Given the description of an element on the screen output the (x, y) to click on. 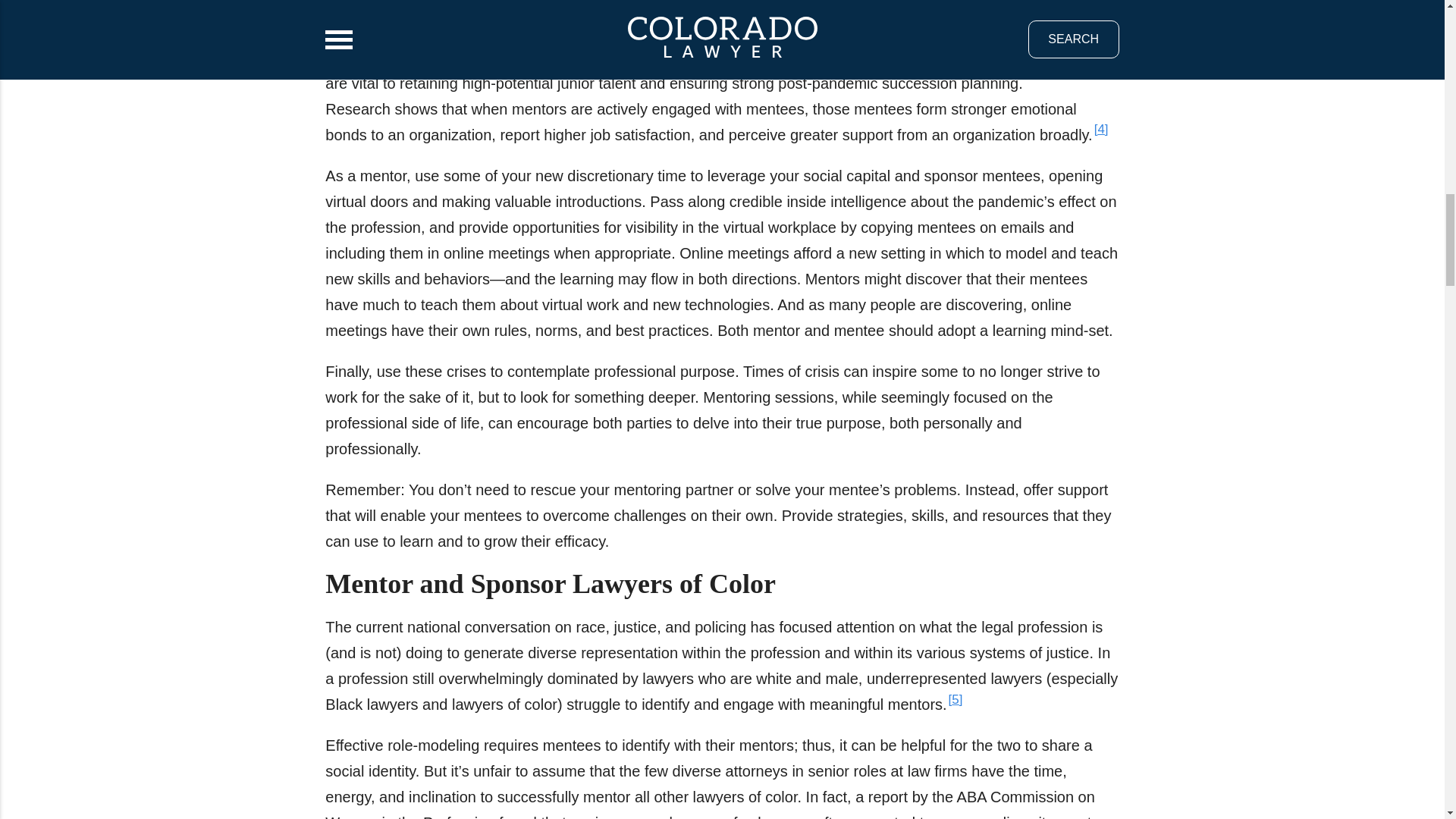
3 (1069, 11)
4 (1101, 129)
5 (955, 698)
